Given the description of an element on the screen output the (x, y) to click on. 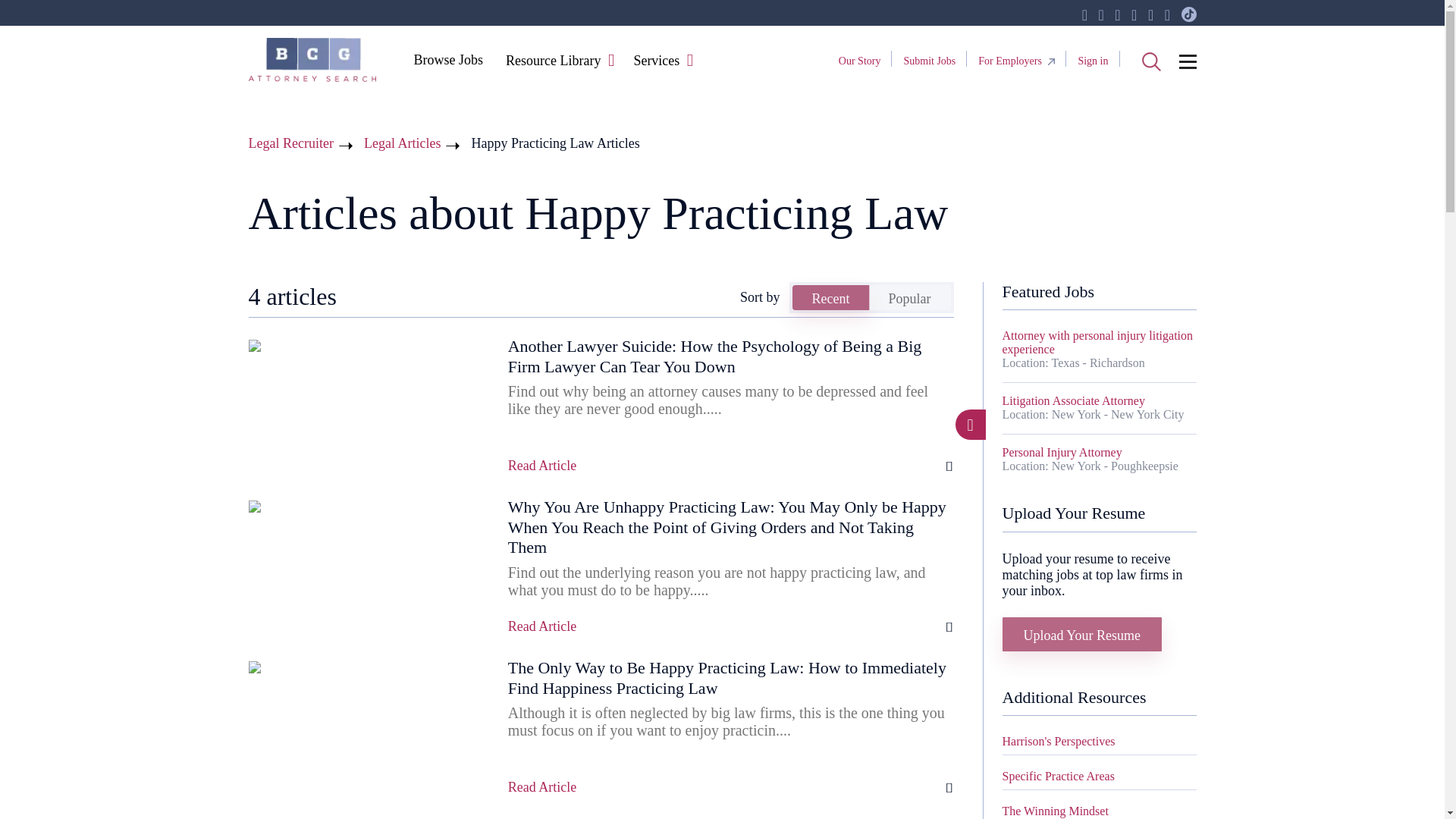
BCG Attorney Search Linkedin (1117, 14)
BCG Attorney Search Pinterest (1150, 14)
BCG Attorney Search Facebook (1084, 14)
BCG Attorney Search Youtube (1134, 14)
BCG Attorney Search Tiktok (1188, 14)
Browse Jobs (448, 59)
Services (655, 61)
BCG Attorney Search Twitter (1100, 14)
Resource Library (553, 61)
BCG Attorney Search Instagram (1167, 14)
